Given the description of an element on the screen output the (x, y) to click on. 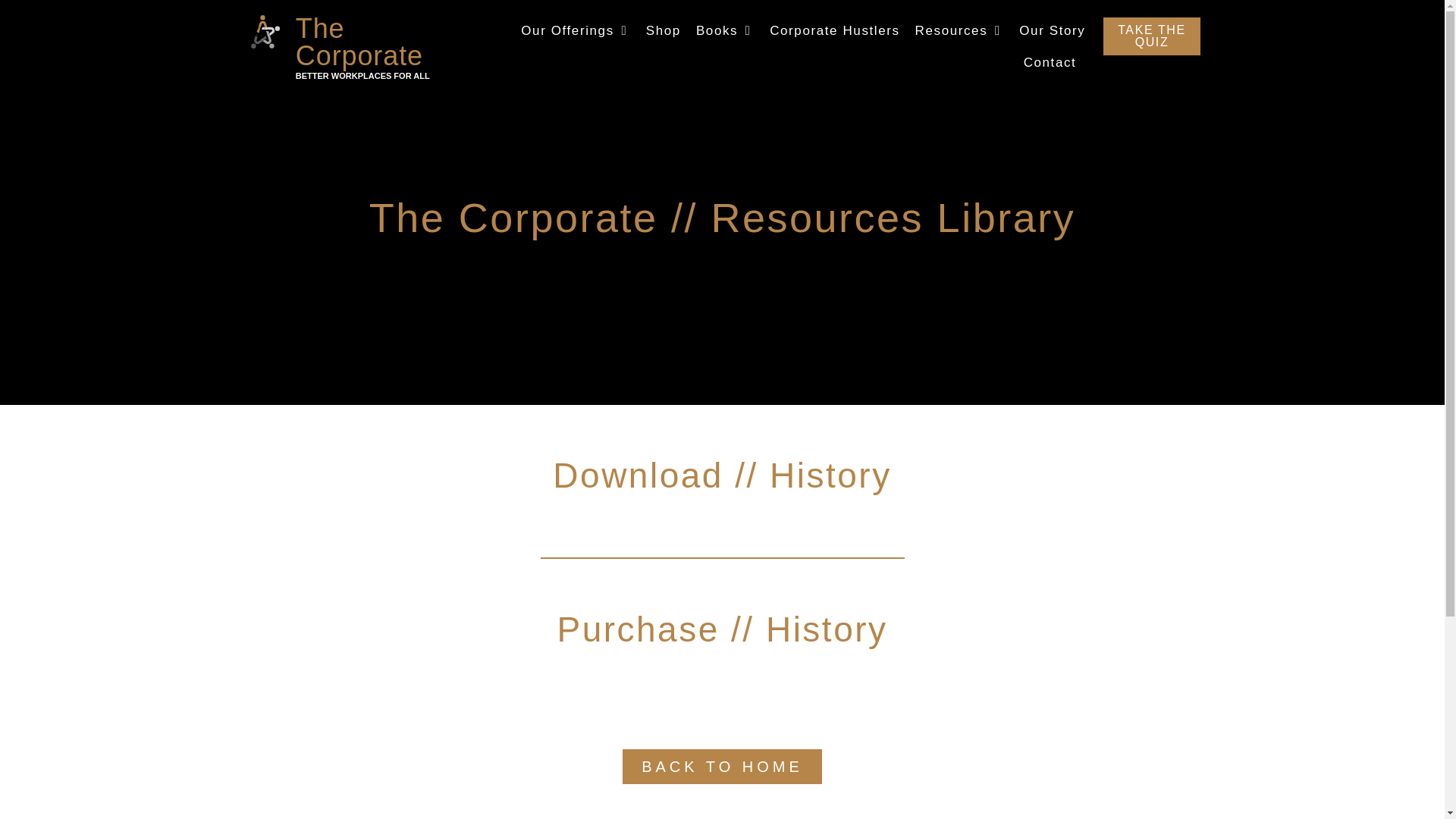
Shop (663, 30)
BETTER WORKPLACES FOR ALL (362, 75)
The Corporate (359, 42)
TAKE THE QUIZ (1151, 36)
Our Story (1051, 30)
Contact (1050, 62)
Corporate Hustlers (834, 30)
